Given the description of an element on the screen output the (x, y) to click on. 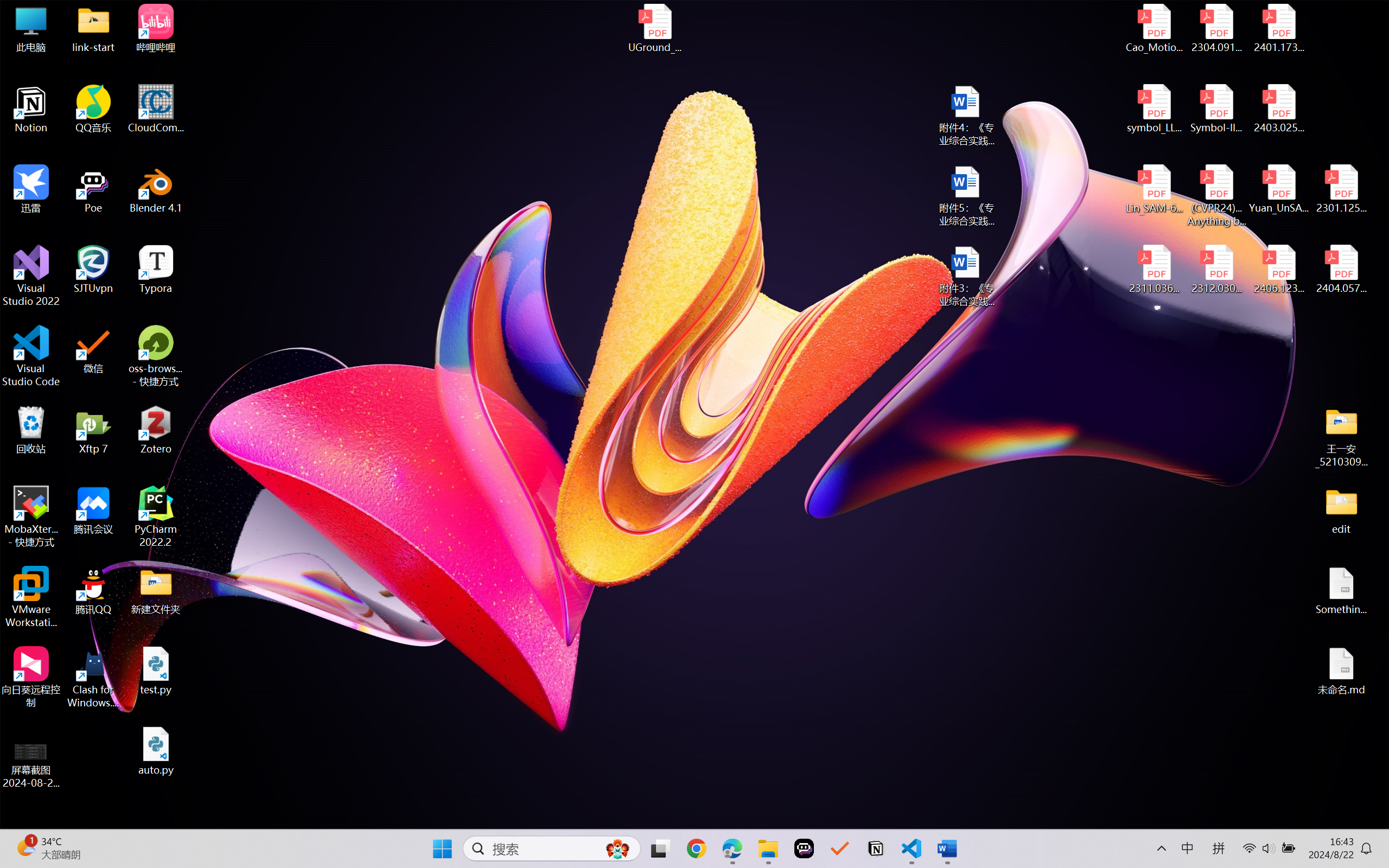
Blender 4.1 (156, 189)
Visual Studio 2022 (31, 276)
2304.09121v3.pdf (1216, 28)
2301.12597v3.pdf (1340, 189)
2311.03658v2.pdf (1154, 269)
2404.05719v1.pdf (1340, 269)
CloudCompare (156, 109)
